Given the description of an element on the screen output the (x, y) to click on. 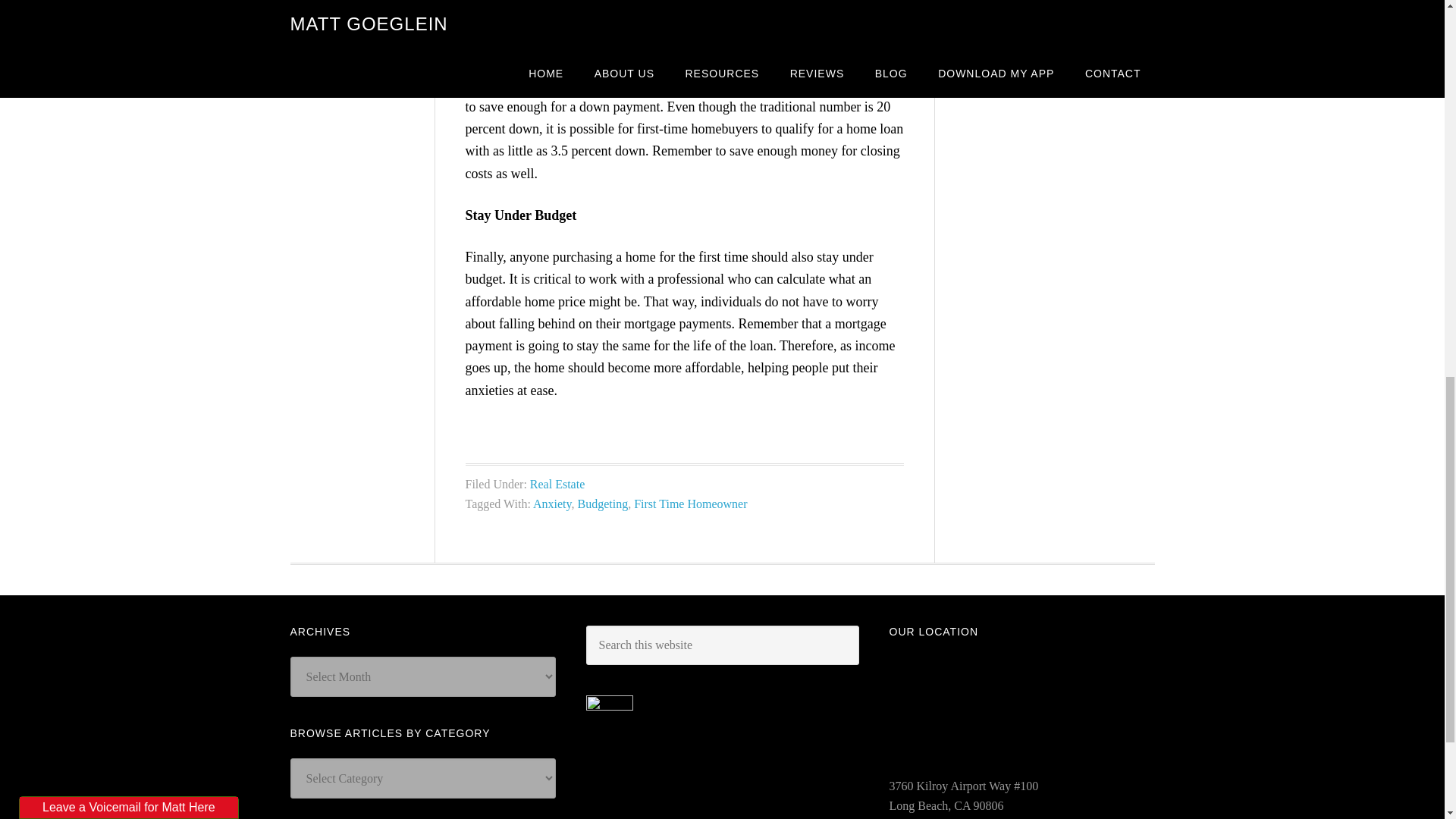
Anxiety (552, 503)
  Download My App (1059, 10)
First Time Homeowner (689, 503)
Real Estate (557, 483)
Budgeting (603, 503)
